Given the description of an element on the screen output the (x, y) to click on. 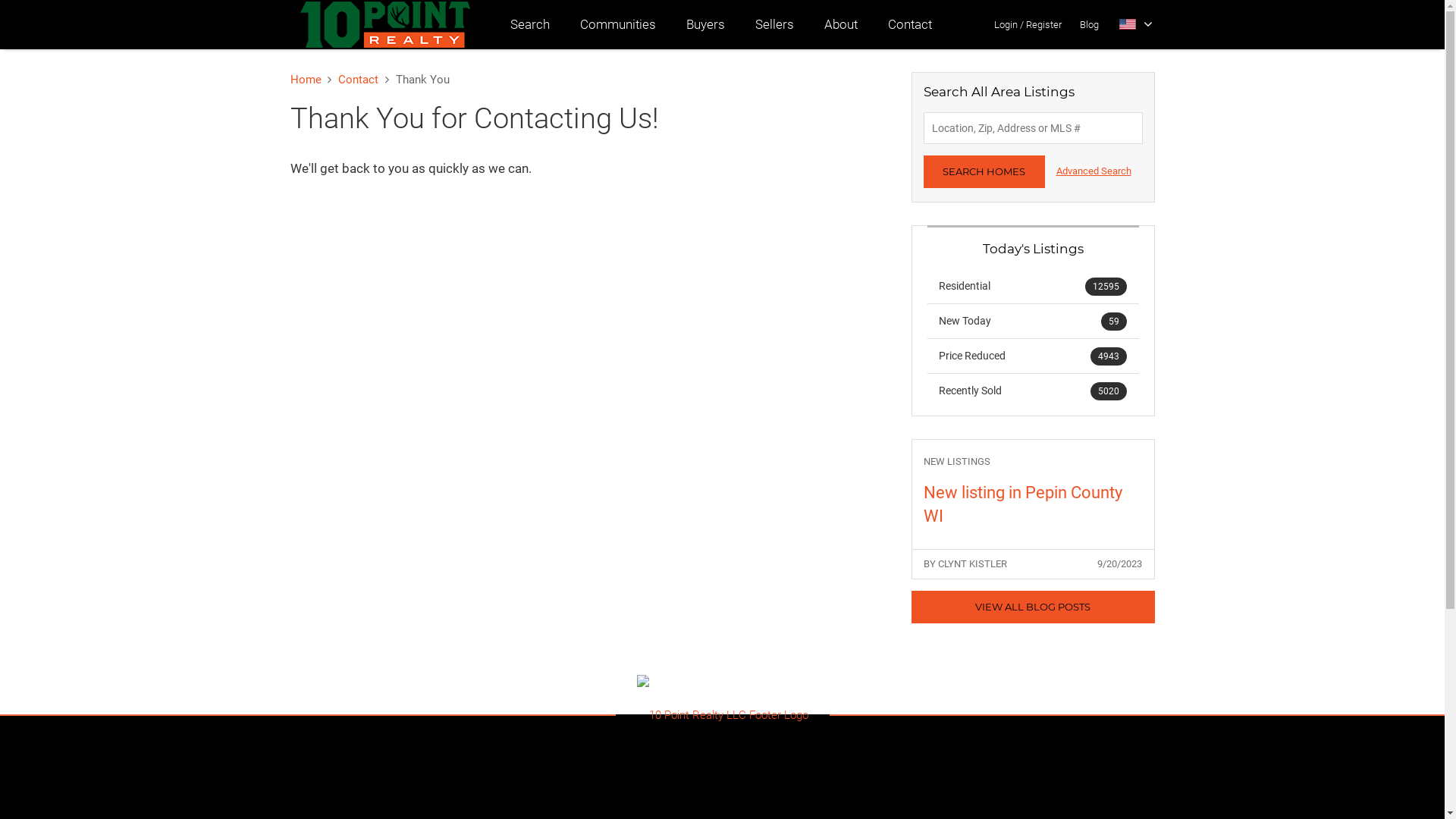
Enter Location, Zip, Address or MLS # Element type: hover (1032, 128)
Register Element type: text (1042, 24)
Sellers Element type: text (774, 24)
Search Element type: text (529, 24)
Advanced Search Element type: text (1092, 171)
Home Element type: text (304, 79)
Select Language Element type: hover (1135, 24)
Login/ Element type: text (1009, 24)
Buyers Element type: text (704, 24)
Communities Element type: text (617, 24)
SEARCH HOMES Element type: text (983, 171)
Contact Element type: text (909, 24)
Recently Sold
5020 Element type: text (1032, 390)
Contact Element type: text (358, 79)
New Today
59 Element type: text (1032, 320)
Residential
12595 Element type: text (1032, 286)
New listing in Pepin County WI Element type: text (1032, 504)
Blog Element type: text (1088, 24)
VIEW ALL BLOG POSTS Element type: text (1032, 606)
About Element type: text (840, 24)
NEW LISTINGS Element type: text (1032, 462)
Price Reduced
4943 Element type: text (1032, 355)
